Given the description of an element on the screen output the (x, y) to click on. 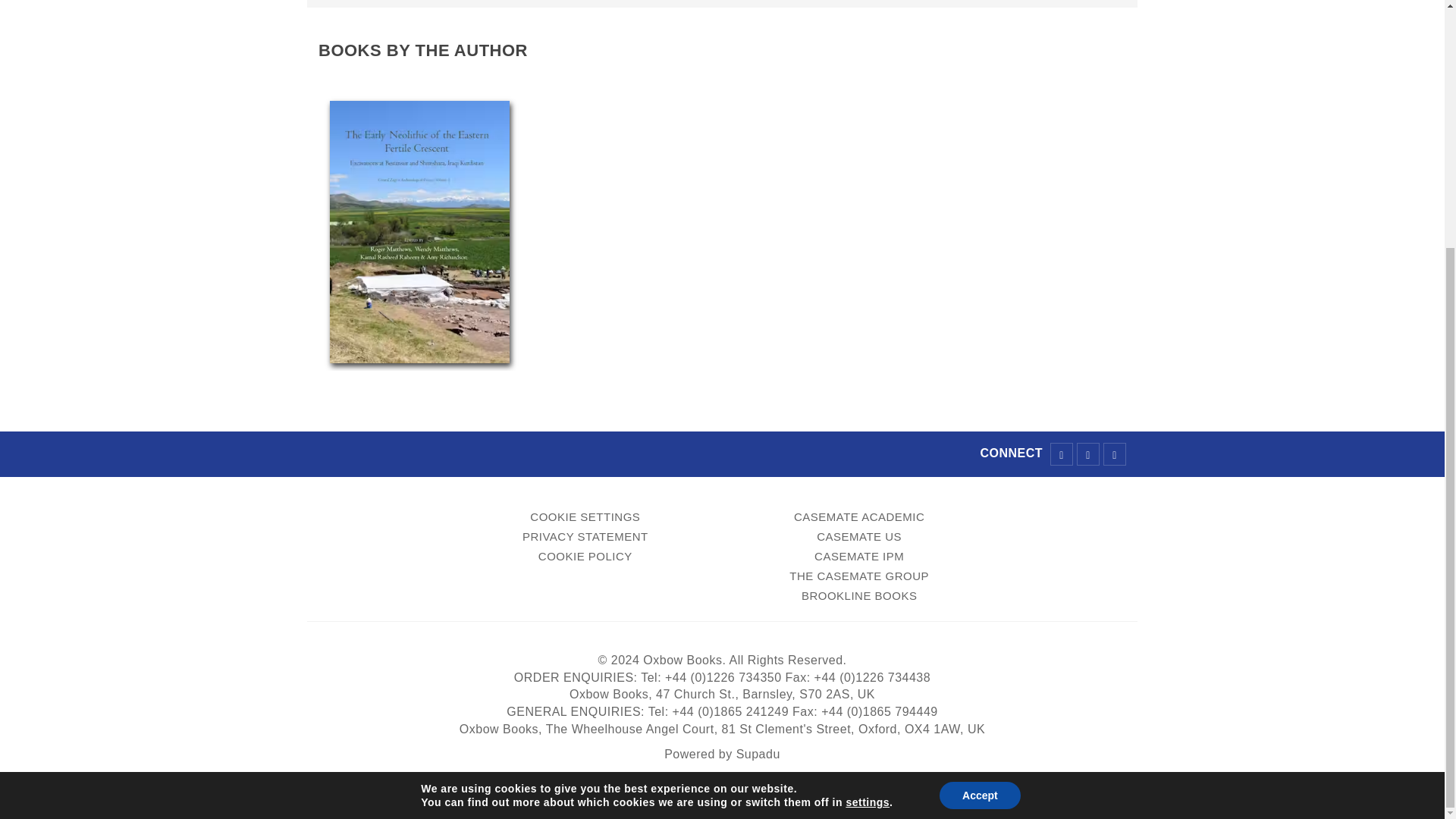
Follow us on LinkedIn (1114, 454)
Follow us on Facebook (1061, 454)
